Given the description of an element on the screen output the (x, y) to click on. 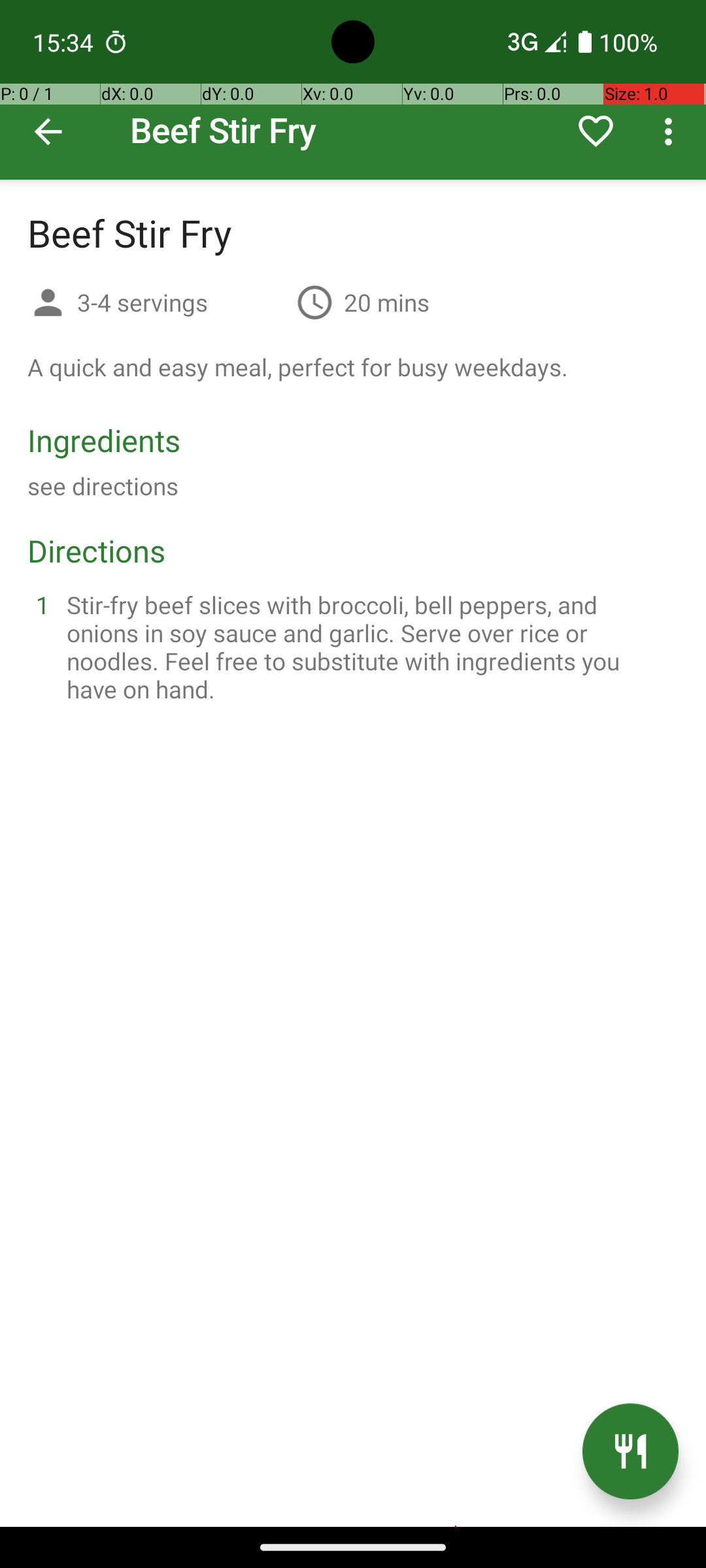
20 mins Element type: android.widget.TextView (386, 301)
Stir-fry beef slices with broccoli, bell peppers, and onions in soy sauce and garlic. Serve over rice or noodles. Feel free to substitute with ingredients you have on hand. Element type: android.widget.TextView (368, 646)
